Given the description of an element on the screen output the (x, y) to click on. 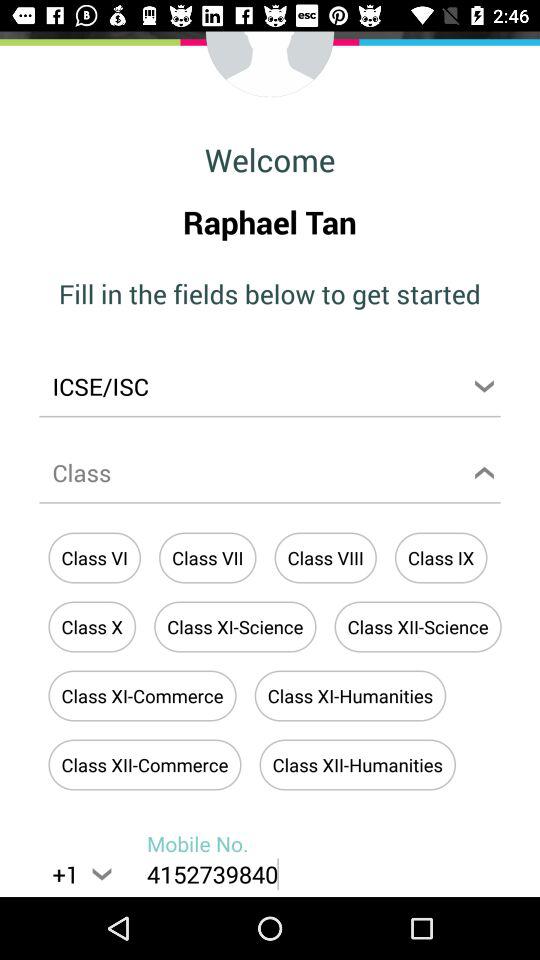
go to class option (269, 475)
